Given the description of an element on the screen output the (x, y) to click on. 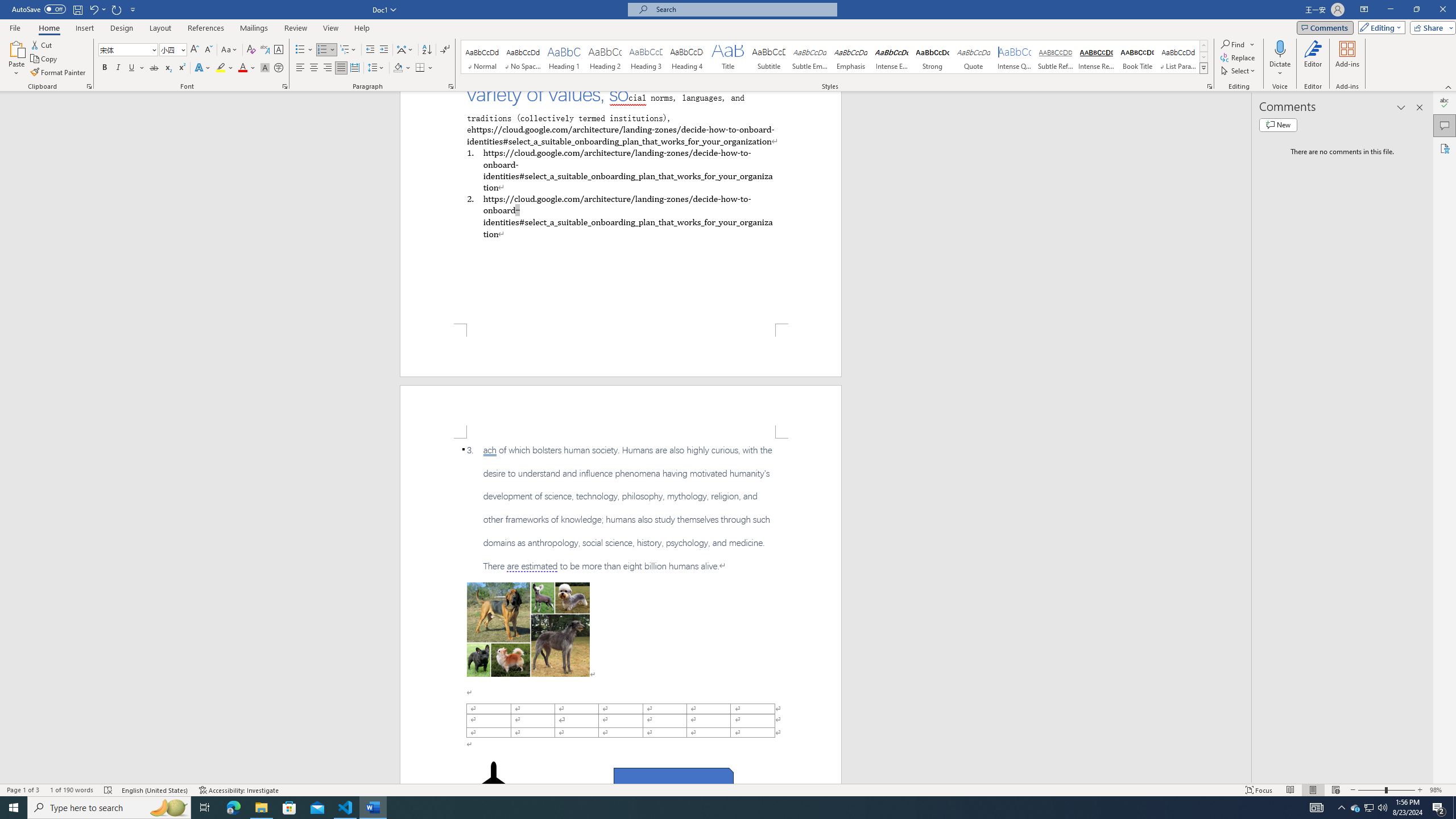
AutoSave (38, 9)
Ribbon Display Options (1364, 9)
Text Effects and Typography (202, 67)
Focus  (1258, 790)
Paste (16, 48)
Collapse the Ribbon (1448, 86)
Print Layout (1312, 790)
Enclose Characters... (278, 67)
Layout (160, 28)
Comments (1444, 125)
Font... (285, 85)
New comment (1278, 124)
Paste (16, 58)
